Given the description of an element on the screen output the (x, y) to click on. 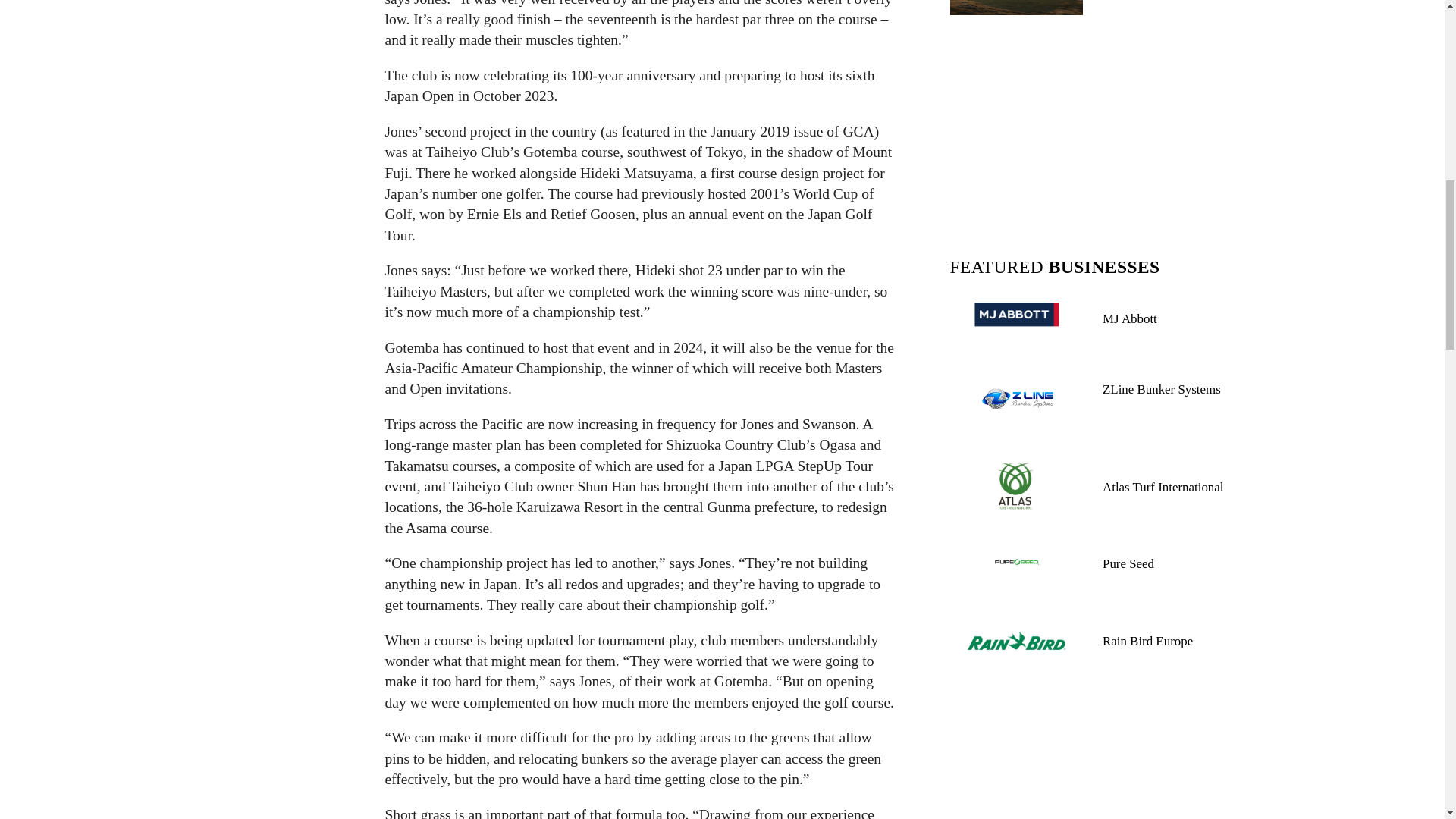
3rd party ad content (1097, 128)
